Given the description of an element on the screen output the (x, y) to click on. 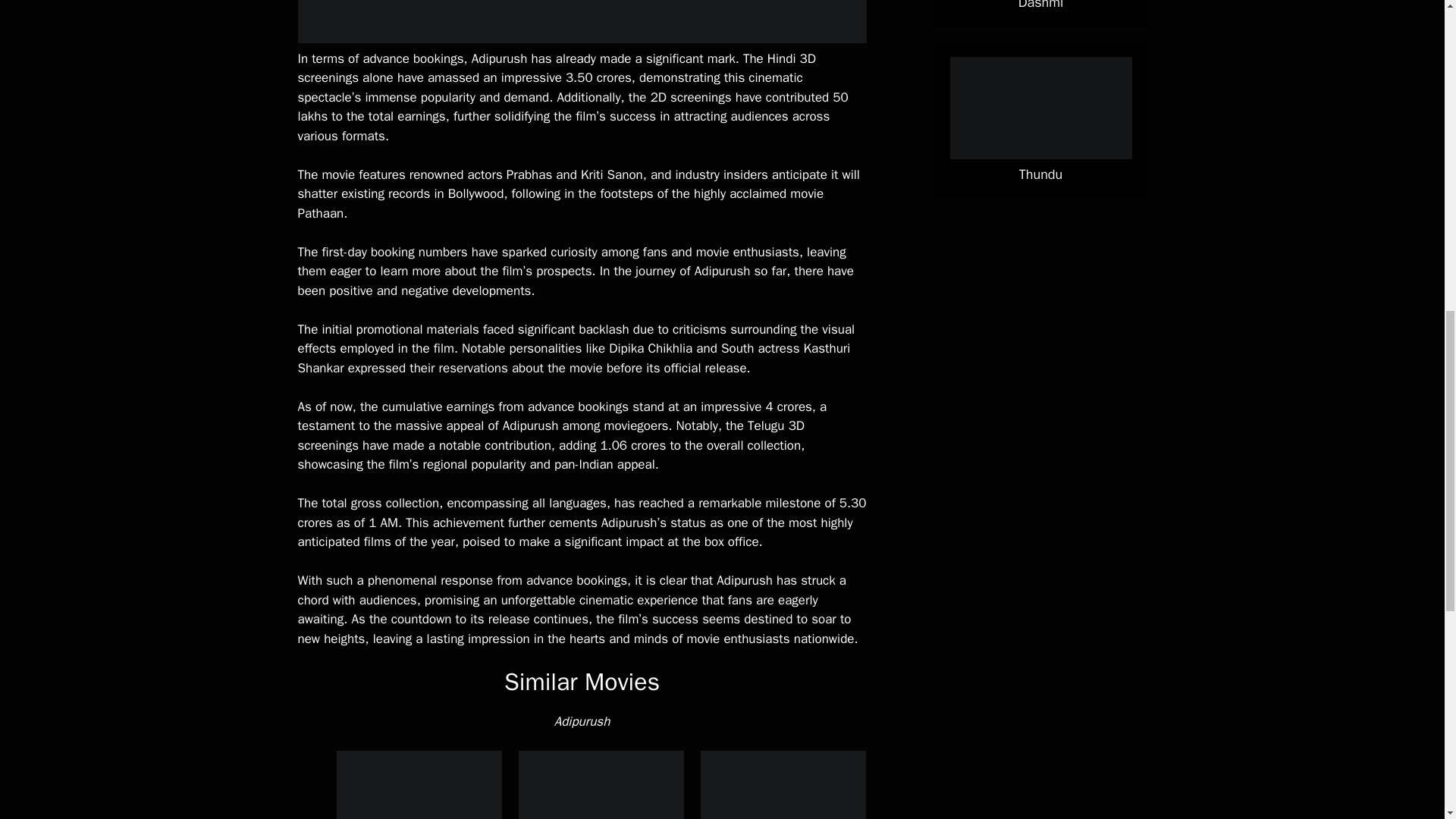
Gangs of Godavari 2 (601, 785)
Adipurush (582, 721)
Pindam 3 (783, 785)
Kasthuri Shankar (573, 357)
Kalki 2898 AD 1 (419, 785)
